Given the description of an element on the screen output the (x, y) to click on. 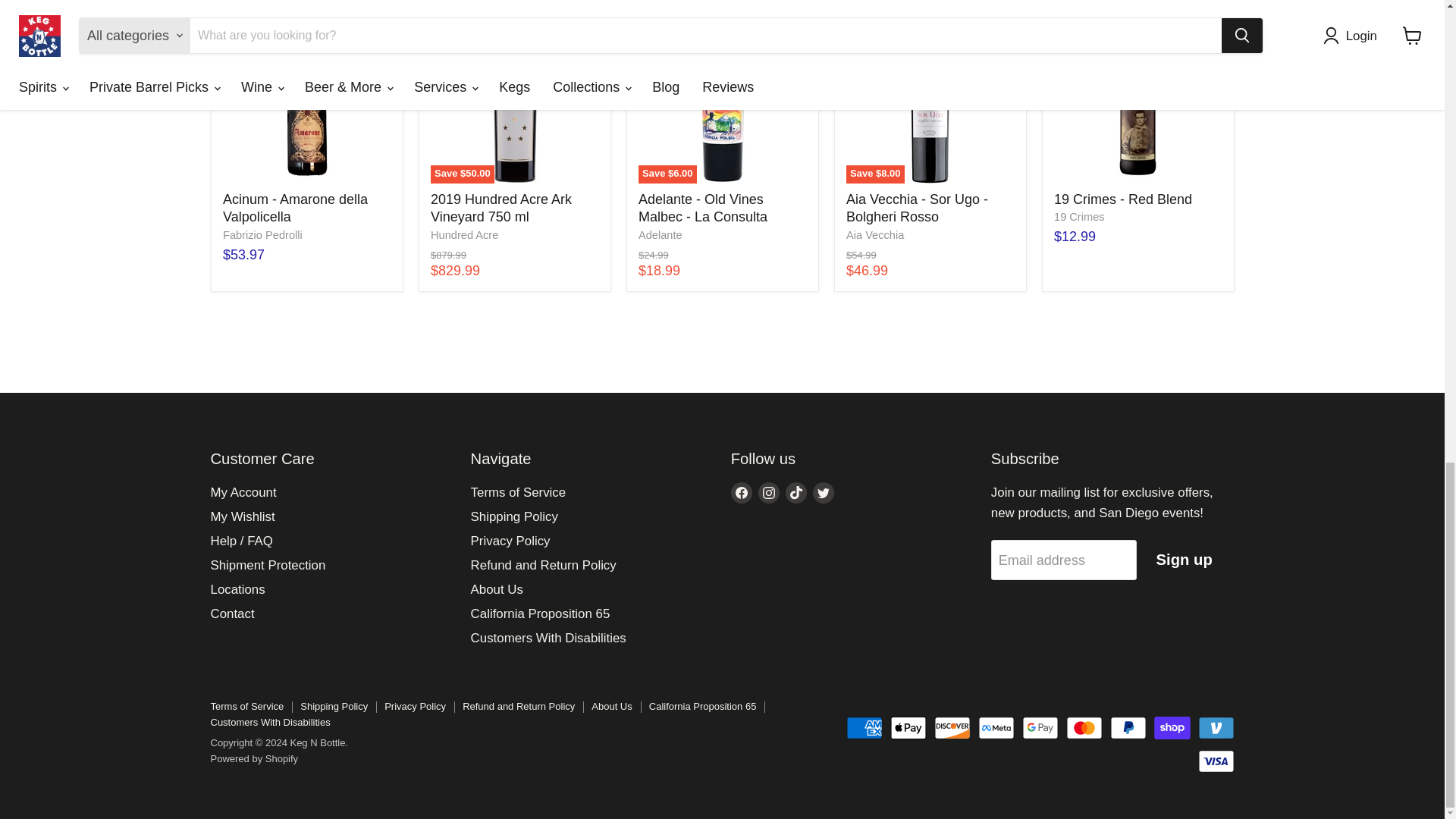
19 Crimes (1079, 216)
Fabrizio Pedrolli (262, 234)
Facebook (741, 492)
Adelante (660, 234)
Instagram (768, 492)
Aia Vecchia (874, 234)
Hundred Acre (463, 234)
